Given the description of an element on the screen output the (x, y) to click on. 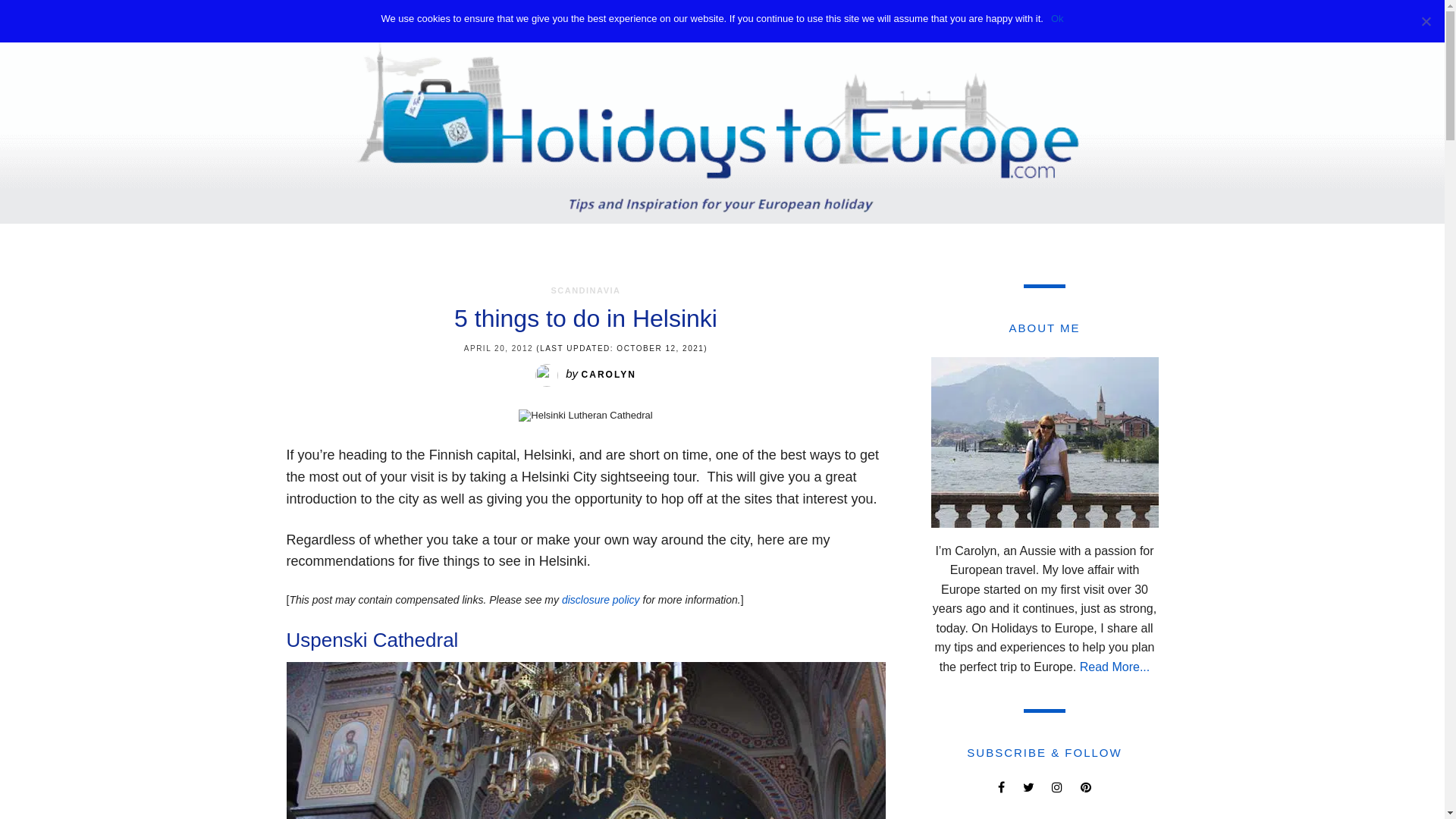
No Element type: hover (1425, 20)
CAROLYN Element type: text (608, 374)
disclosure policy Element type: text (600, 599)
SCANDINAVIA Element type: text (585, 289)
HOME Element type: text (419, 20)
APRIL 20, 2012 Element type: text (498, 348)
EUROPE TRAVEL BLOG Element type: text (706, 20)
Ok Element type: text (1057, 18)
CONTACT Element type: text (1015, 20)
Read More... Element type: text (1114, 666)
EUROPEAN DESTINATIONS Element type: text (538, 20)
RESOURCES Element type: text (838, 20)
ABOUT ME Element type: text (933, 20)
